Given the description of an element on the screen output the (x, y) to click on. 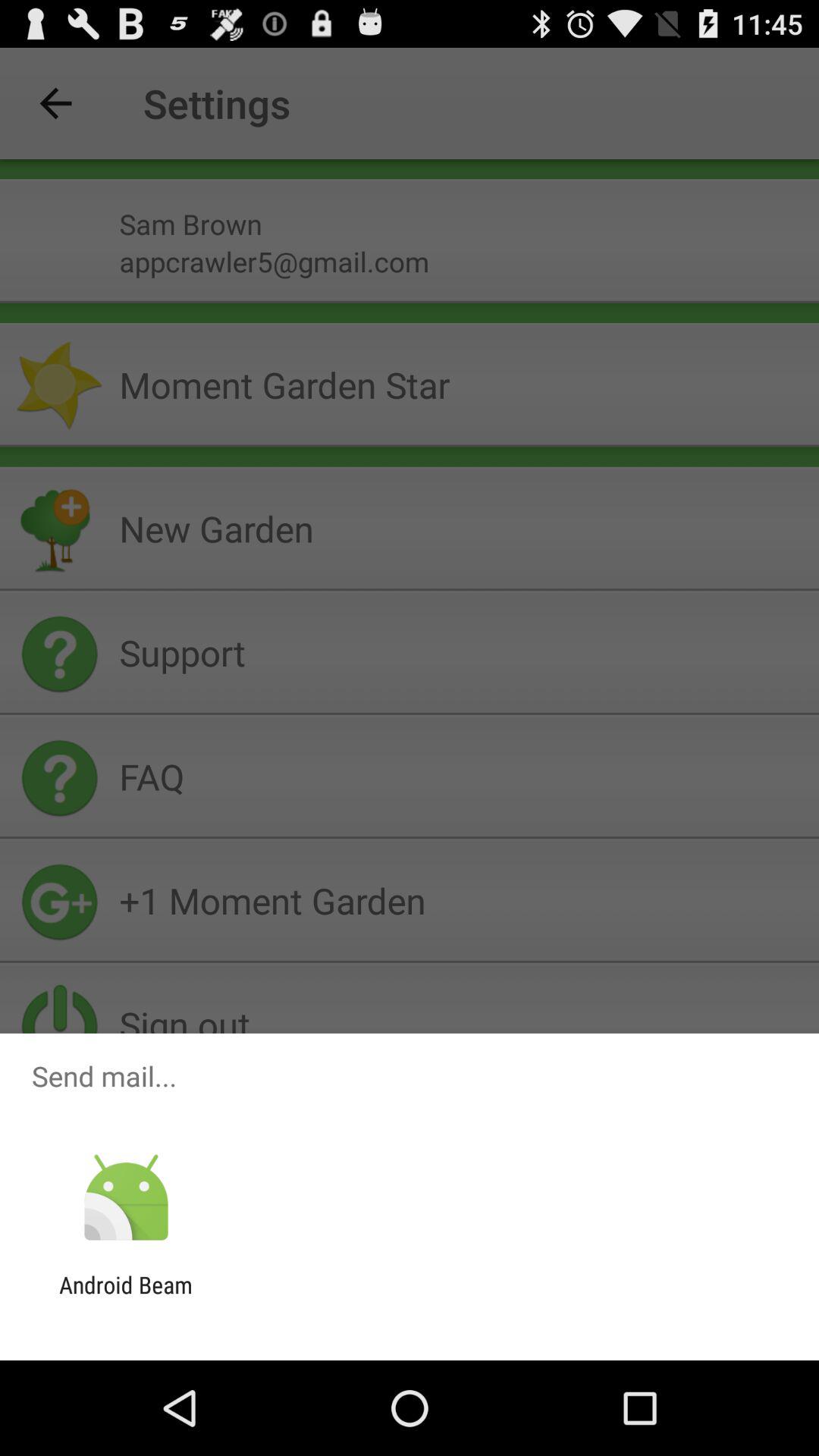
turn off the item below send mail... icon (126, 1198)
